Given the description of an element on the screen output the (x, y) to click on. 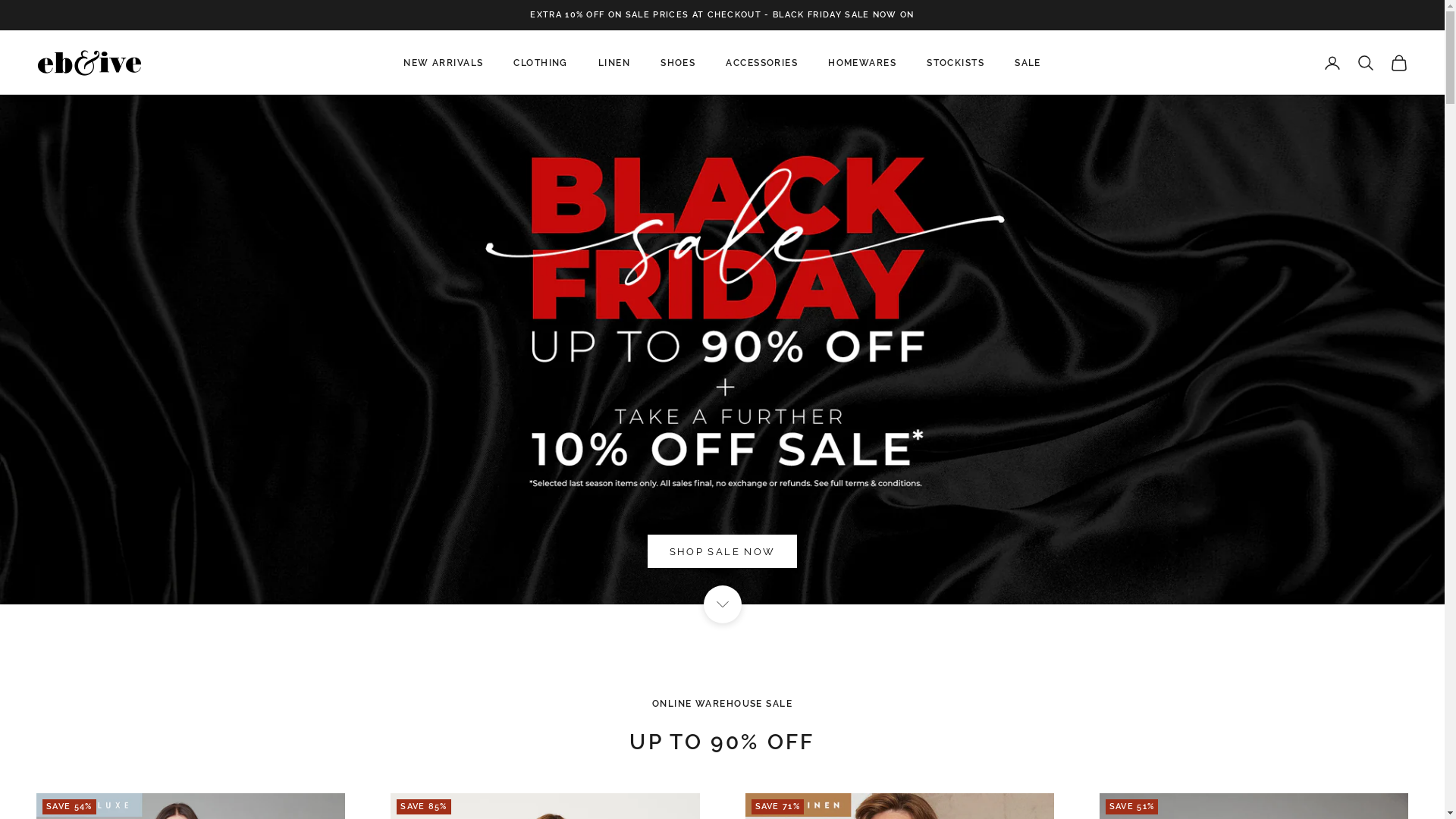
Open cart Element type: text (1399, 62)
LINEN Element type: text (614, 62)
eb&ive Element type: text (89, 62)
Open search Element type: text (1365, 62)
Navigate to next section Element type: text (722, 604)
Open account page Element type: text (1332, 62)
SHOP SALE NOW Element type: text (722, 349)
NEW ARRIVALS Element type: text (443, 62)
